Given the description of an element on the screen output the (x, y) to click on. 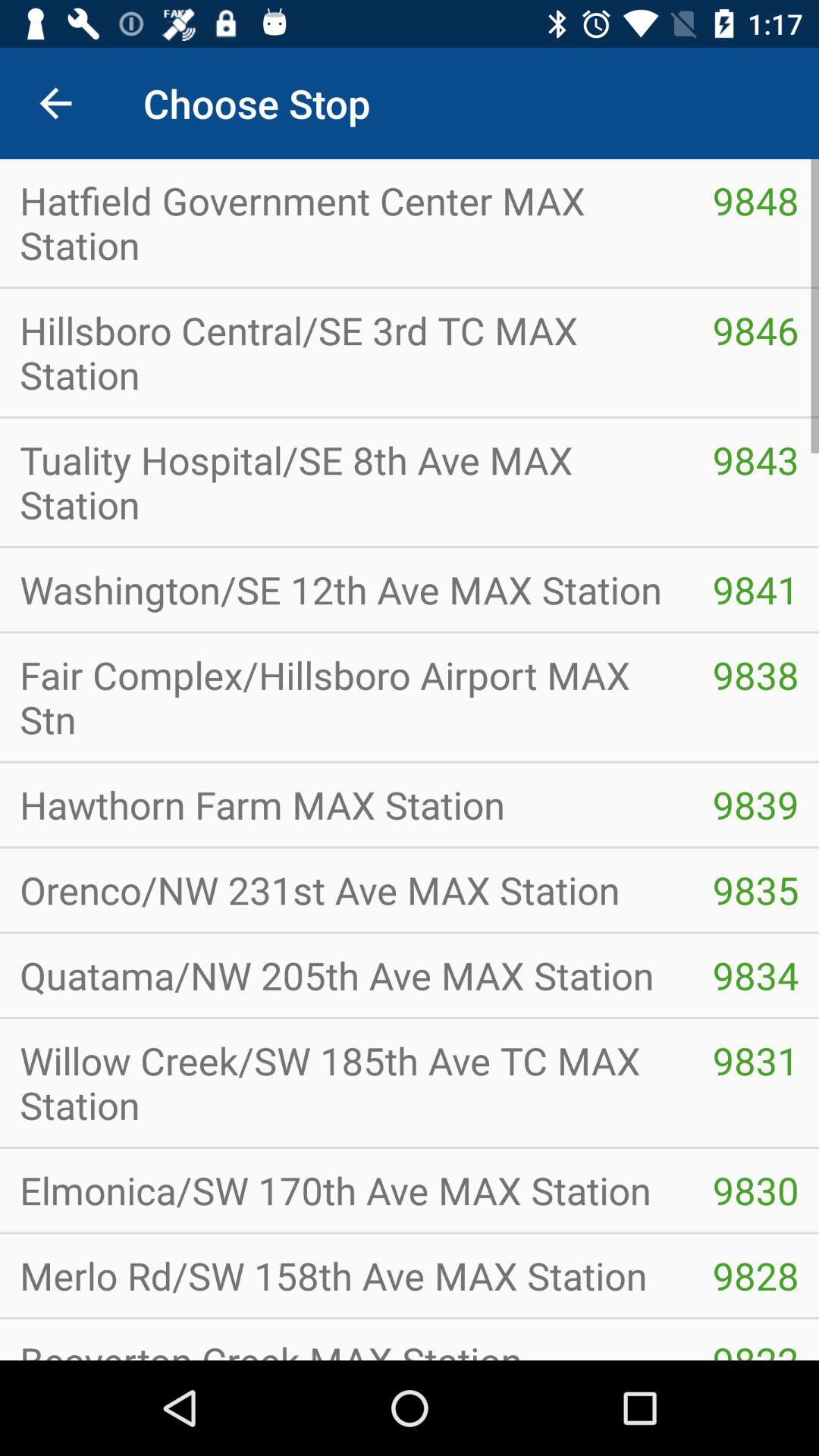
turn on icon below orenco nw 231st icon (755, 974)
